Given the description of an element on the screen output the (x, y) to click on. 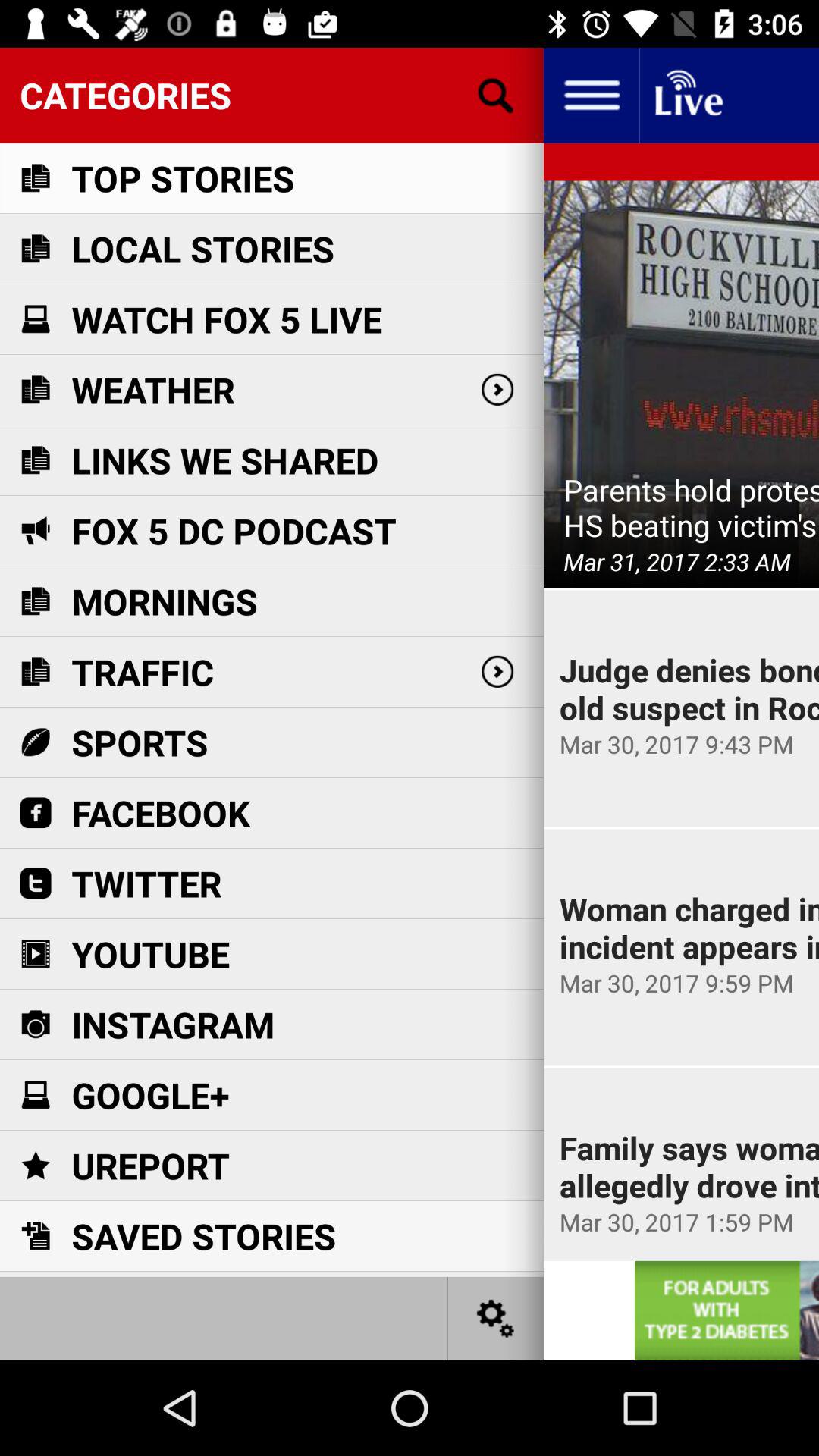
advertisements (726, 1310)
